Given the description of an element on the screen output the (x, y) to click on. 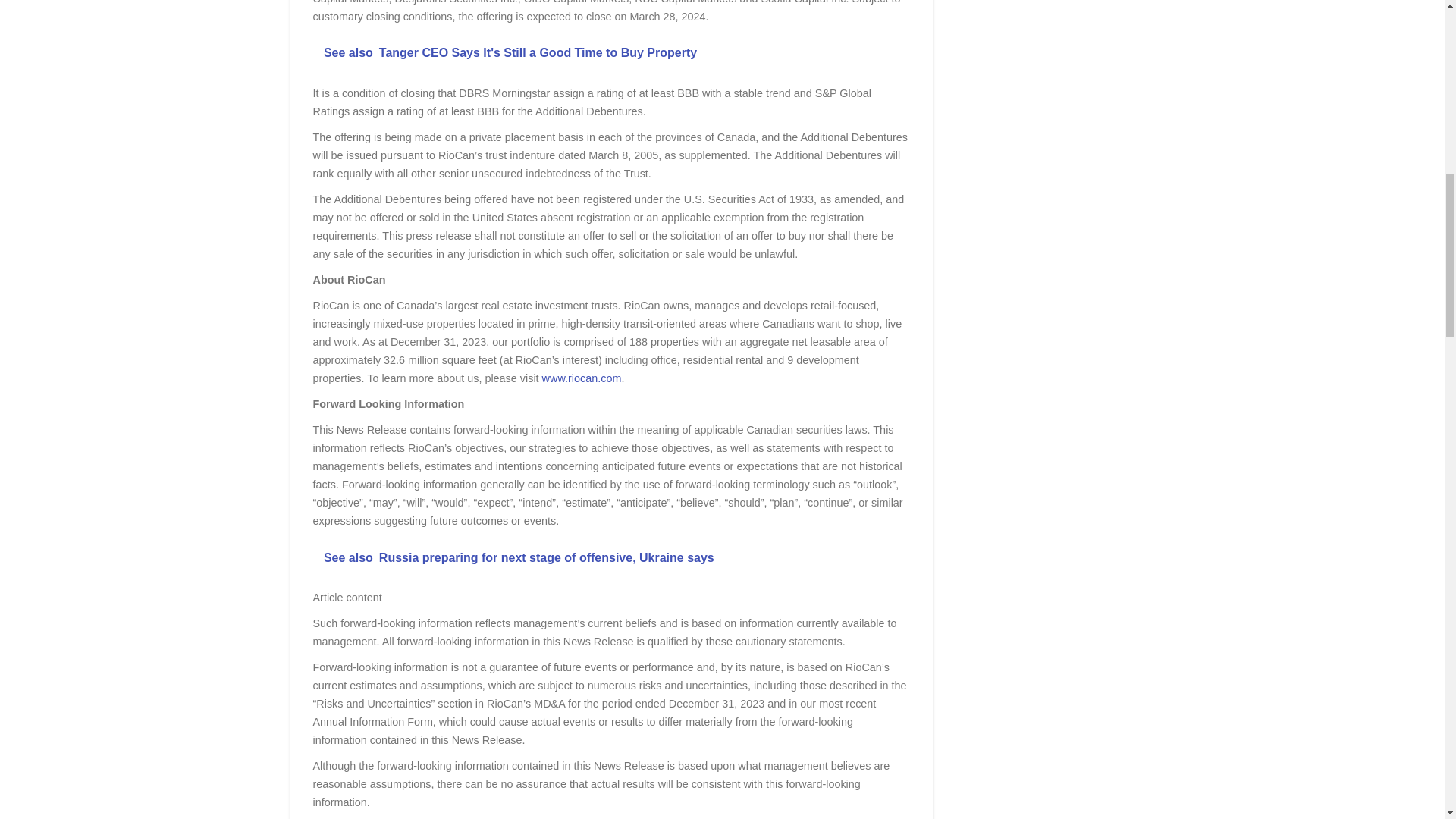
www.riocan.com (581, 378)
